Given the description of an element on the screen output the (x, y) to click on. 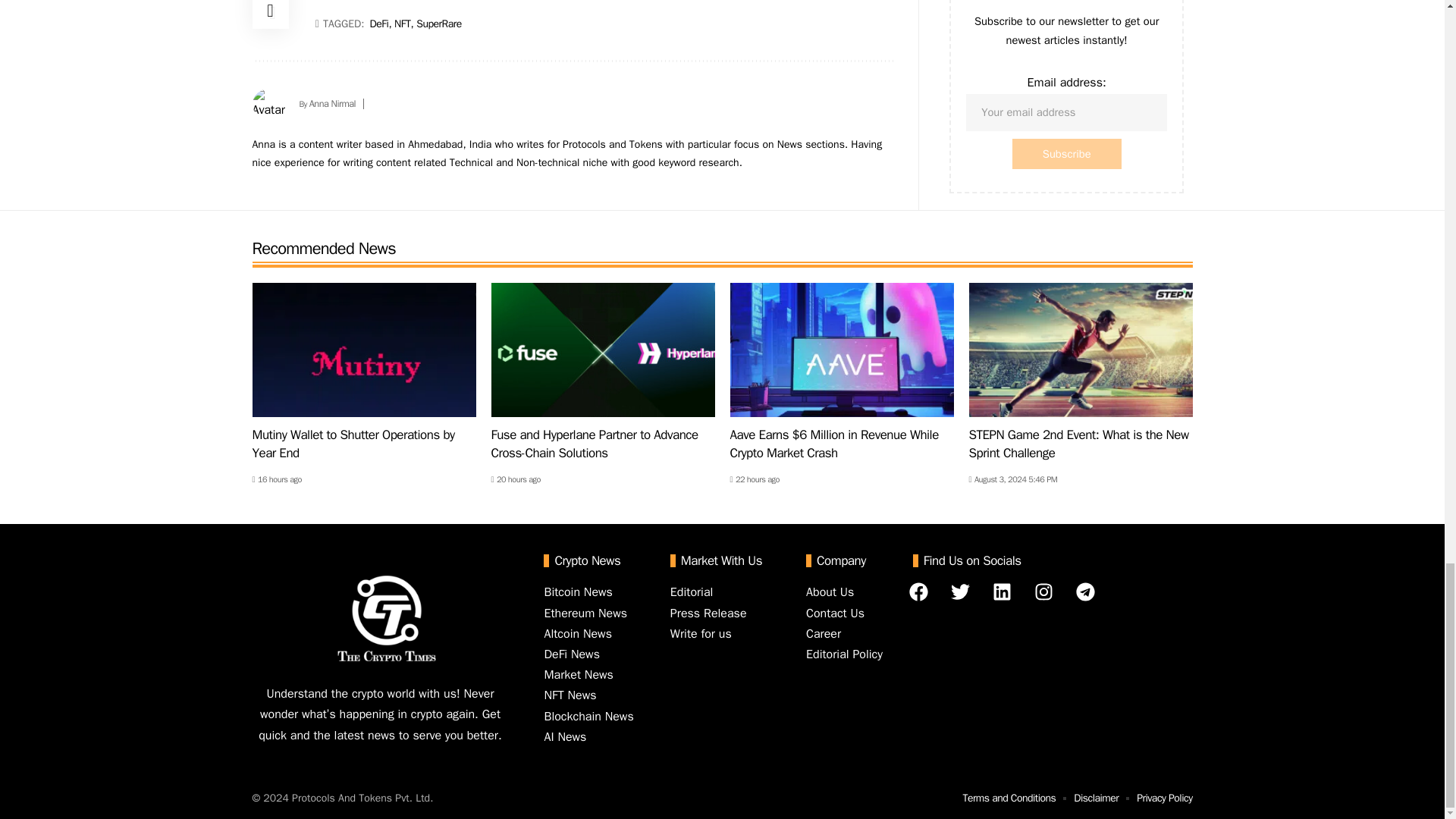
Mutiny Wallet to Shutter Operations by Year End (363, 348)
Fuse and Hyperlane Partner to Advance Cross-Chain Solutions (603, 348)
STEPN Game 2nd Event: What is the New Sprint Challenge (1080, 348)
